Given the description of an element on the screen output the (x, y) to click on. 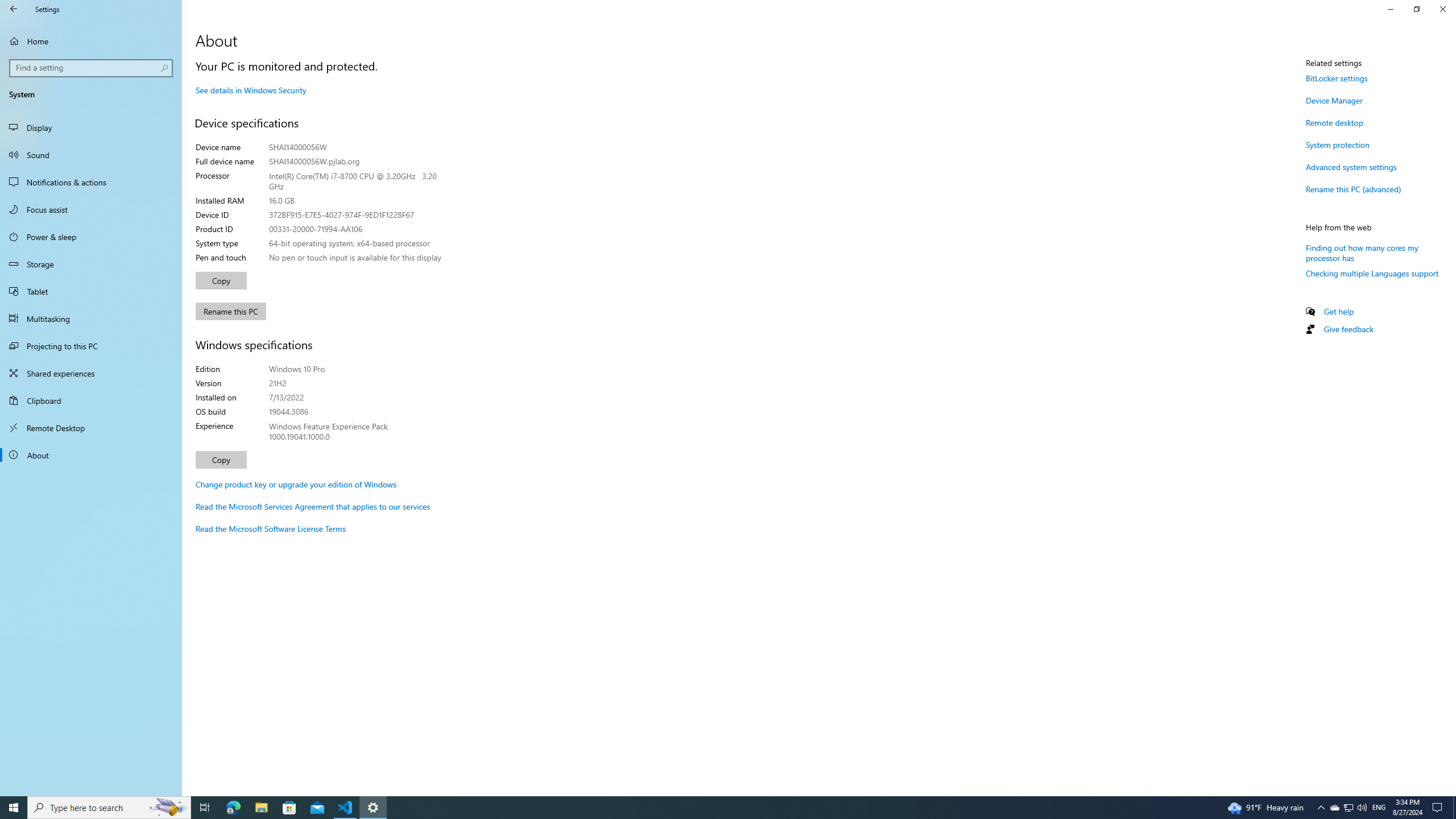
Read the Microsoft Software License Terms (270, 528)
Running applications (706, 807)
Give feedback (1348, 328)
Display (91, 126)
Projecting to this PC (91, 345)
Finding out how many cores my processor has (1362, 252)
Power & sleep (91, 236)
Clipboard (91, 400)
Remote desktop (1335, 122)
Notifications & actions (91, 181)
